Given the description of an element on the screen output the (x, y) to click on. 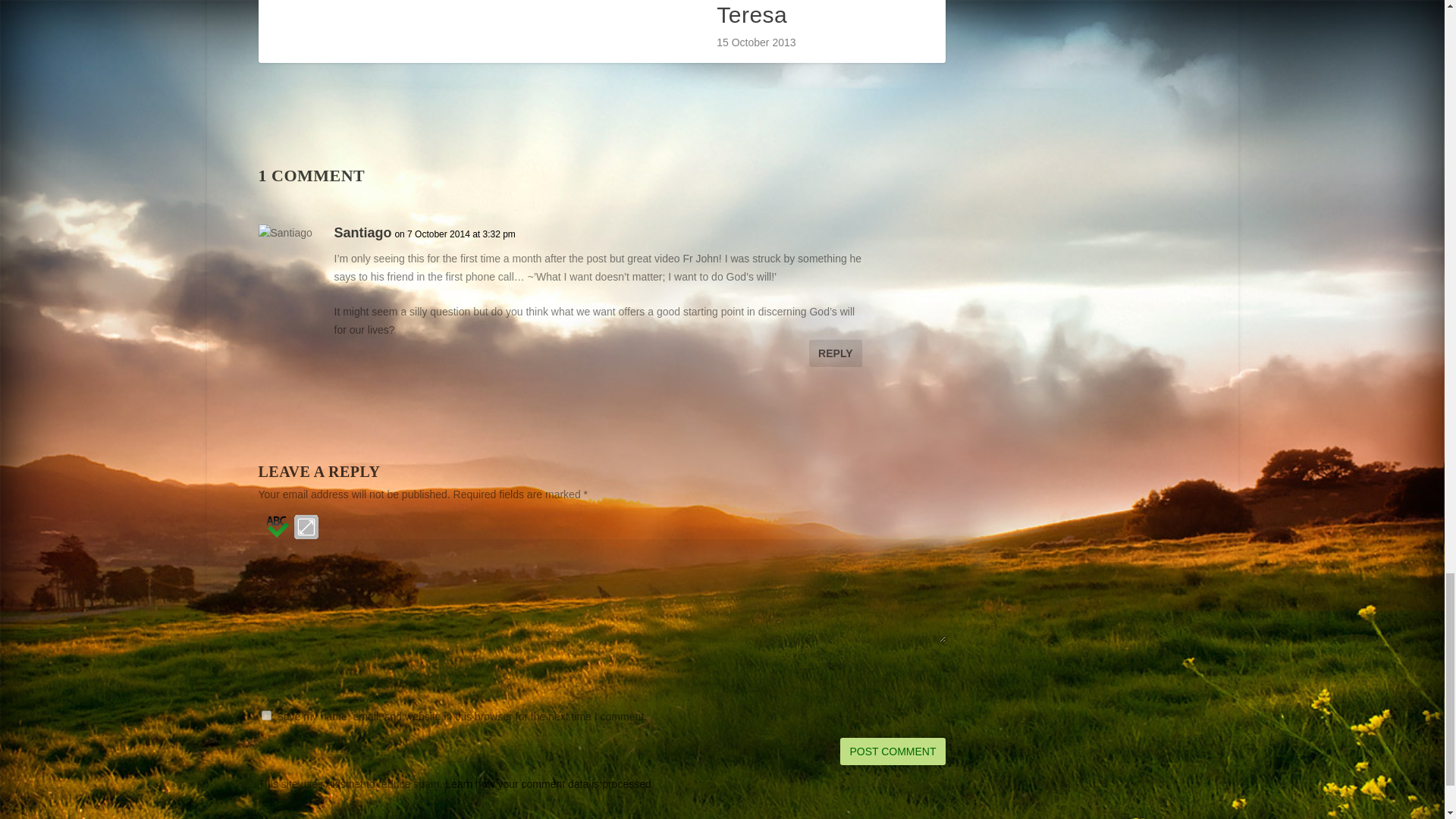
yes (265, 715)
Post Comment (892, 750)
